Given the description of an element on the screen output the (x, y) to click on. 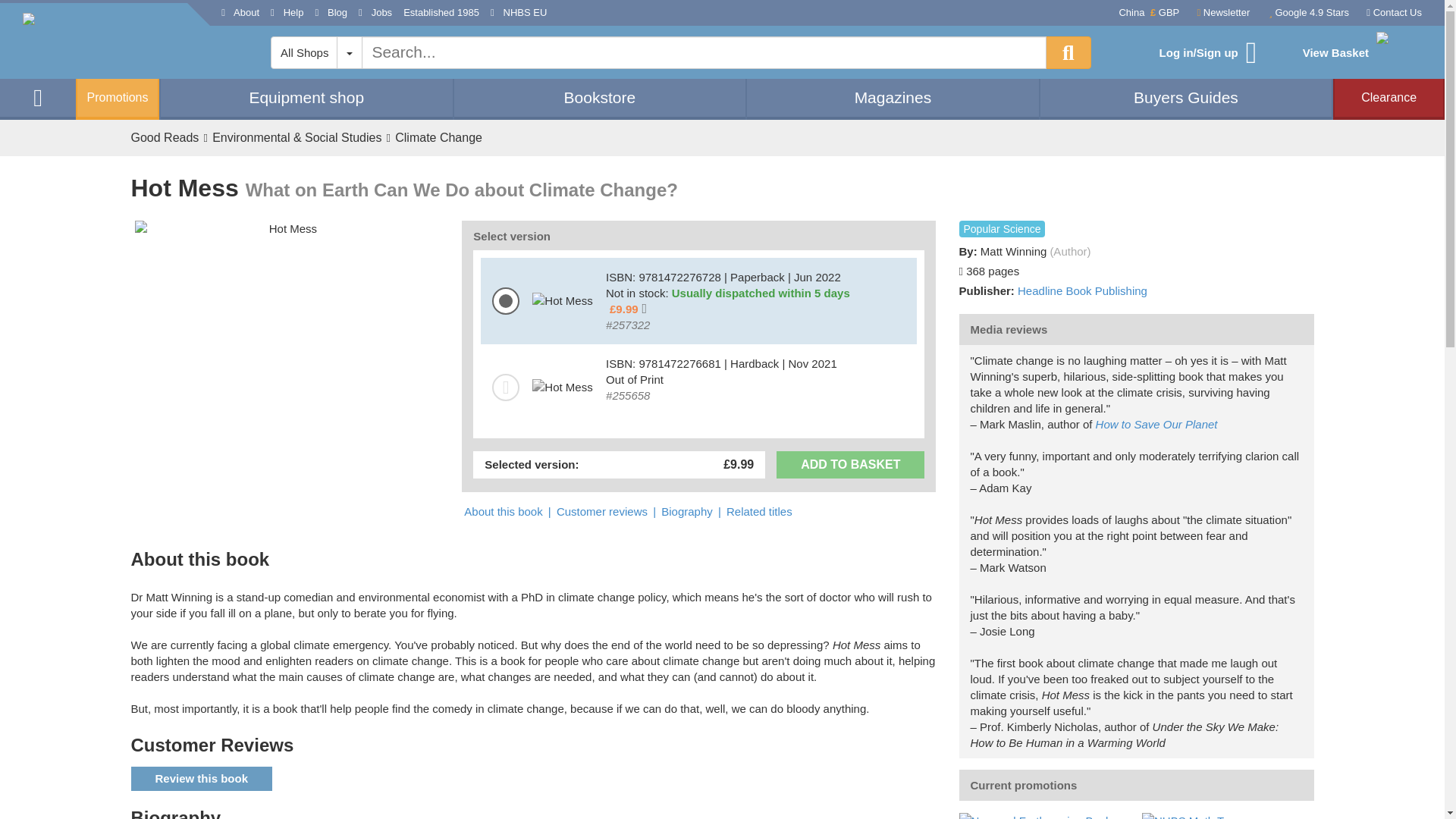
Back to NHBS (37, 97)
Blog (330, 12)
Established 1985 (441, 12)
Magazines (892, 97)
Equipment shop (306, 97)
All Shops (303, 52)
Promotions (116, 98)
Back to NHBS (105, 40)
Bookstore (599, 97)
Newsletter (1220, 14)
